Given the description of an element on the screen output the (x, y) to click on. 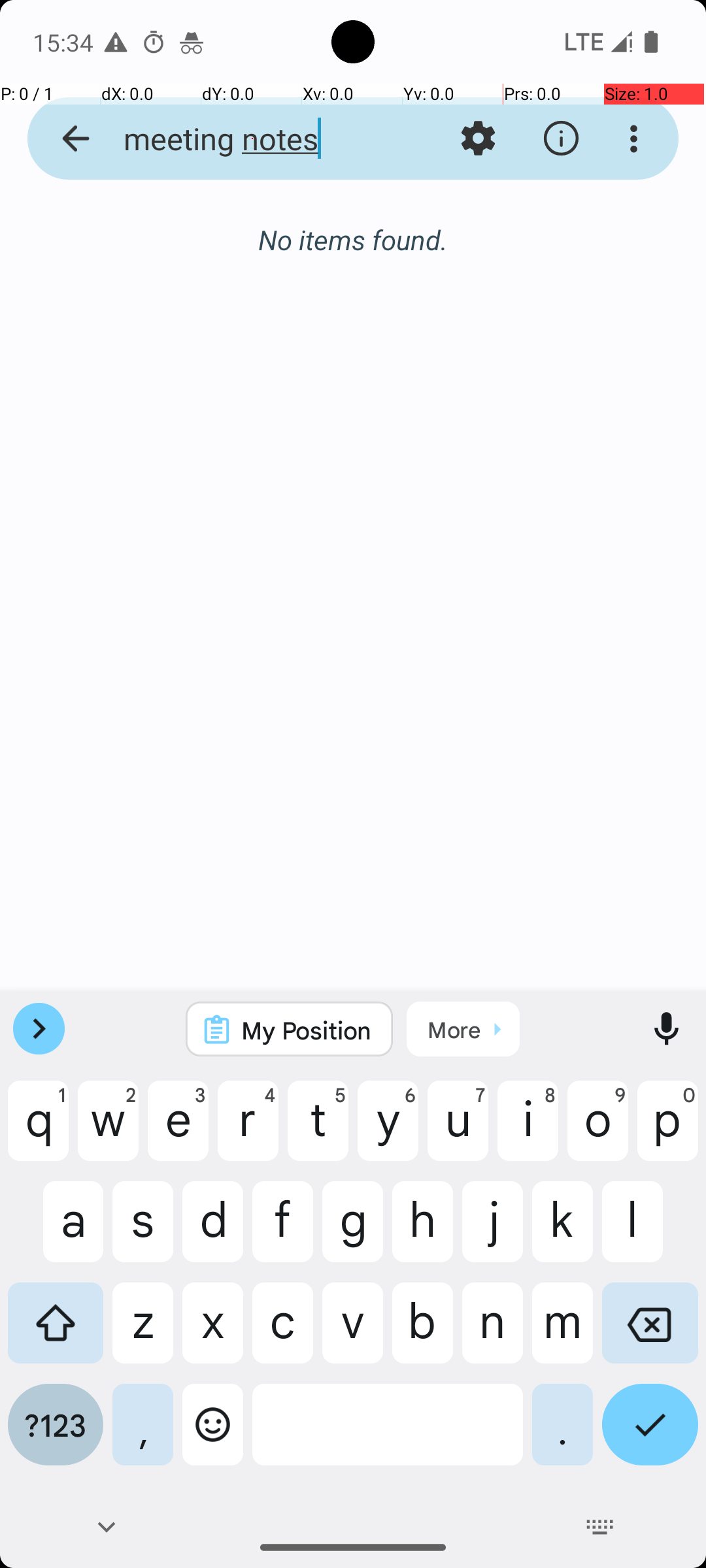
meeting notes Element type: android.widget.EditText (252, 138)
